Given the description of an element on the screen output the (x, y) to click on. 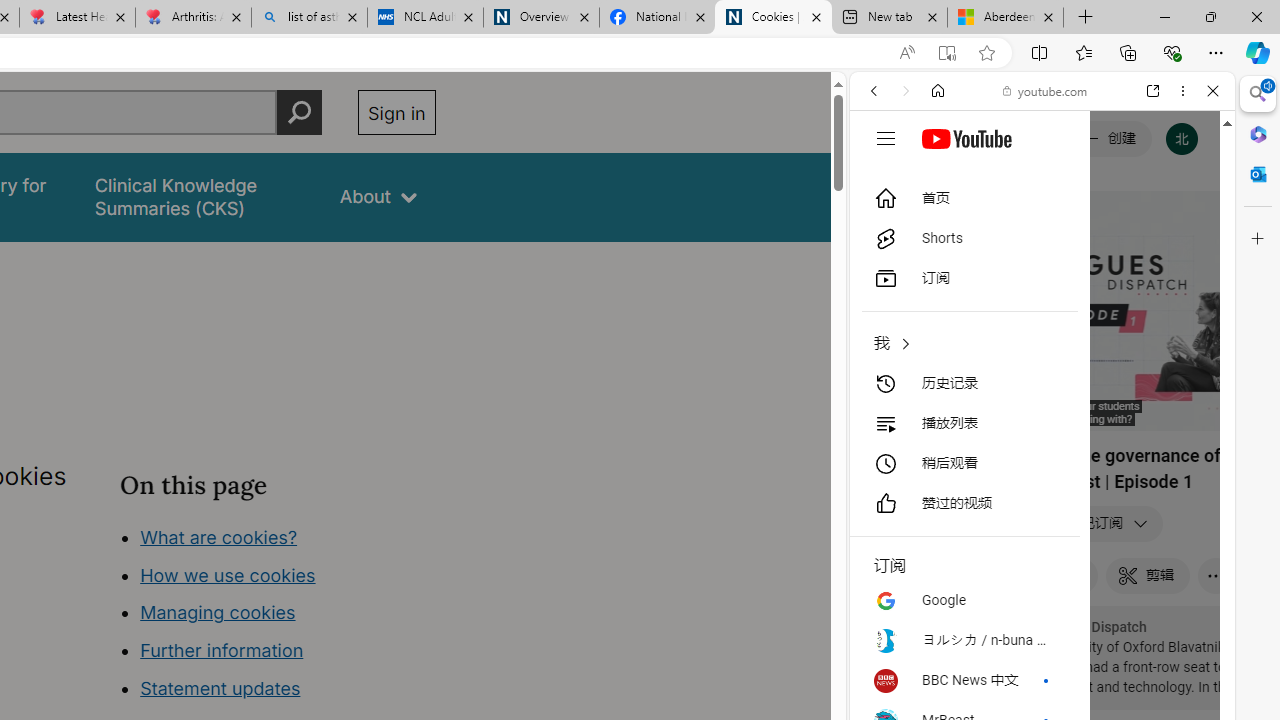
Trailer #2 [HD] (1042, 594)
list of asthma inhalers uk - Search (309, 17)
#you (1042, 445)
Sign in (396, 112)
Search the web (1051, 137)
Cookies | About | NICE (772, 17)
Global web icon (888, 288)
Aberdeen, Hong Kong SAR hourly forecast | Microsoft Weather (1005, 17)
